Given the description of an element on the screen output the (x, y) to click on. 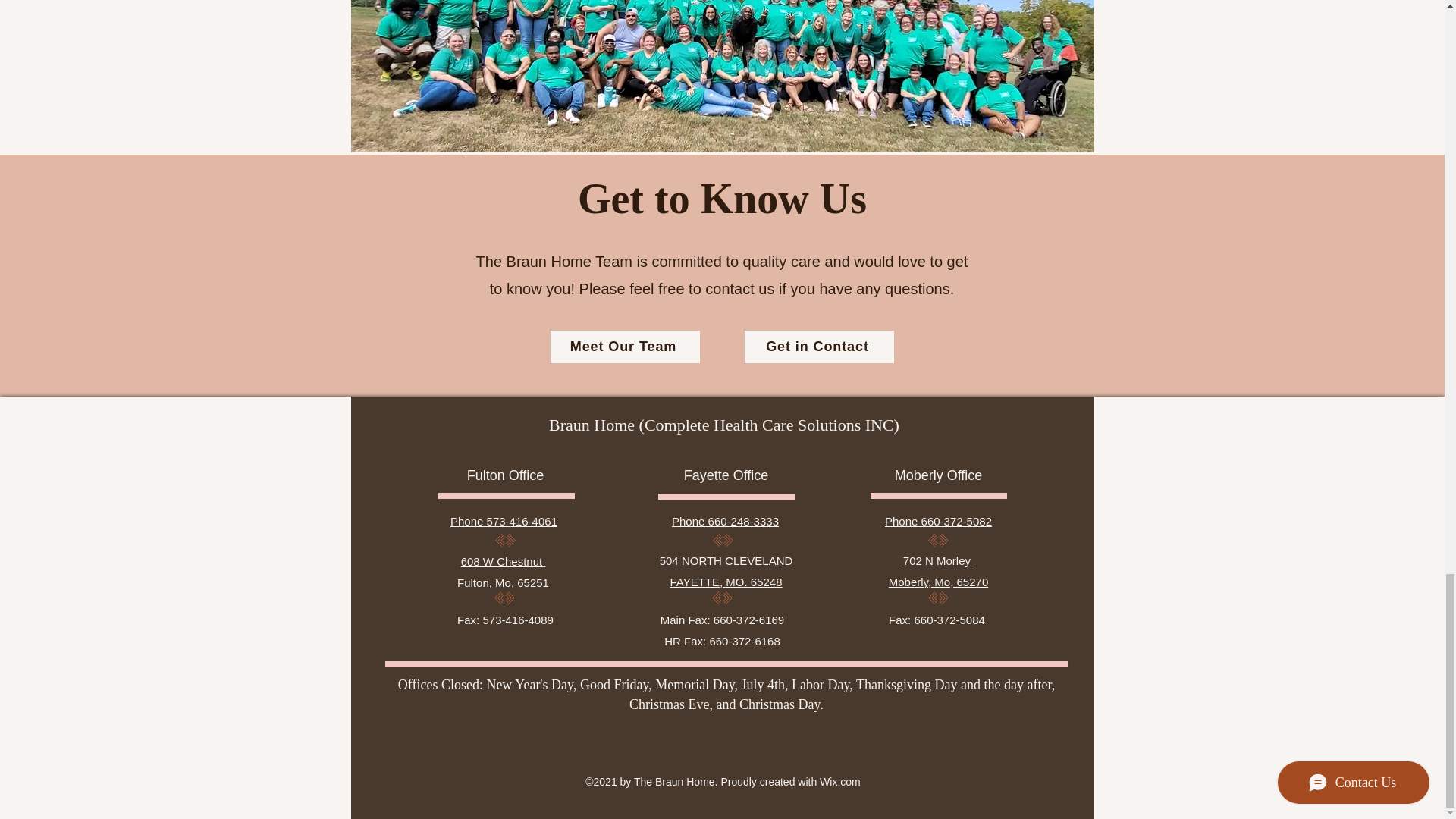
Phone 573-416-4061 (503, 521)
504 NORTH CLEVELAND FAYETTE, MO. 65248 (726, 571)
702 N Morley  (938, 560)
Fulton, Mo, 65251 (502, 582)
Meet Our Team (625, 346)
608 W Chestnut  (503, 561)
Moberly, Mo, 65270 (938, 581)
Phone 660-248-3333 (724, 521)
Phone 660-372-5082 (938, 521)
